Given the description of an element on the screen output the (x, y) to click on. 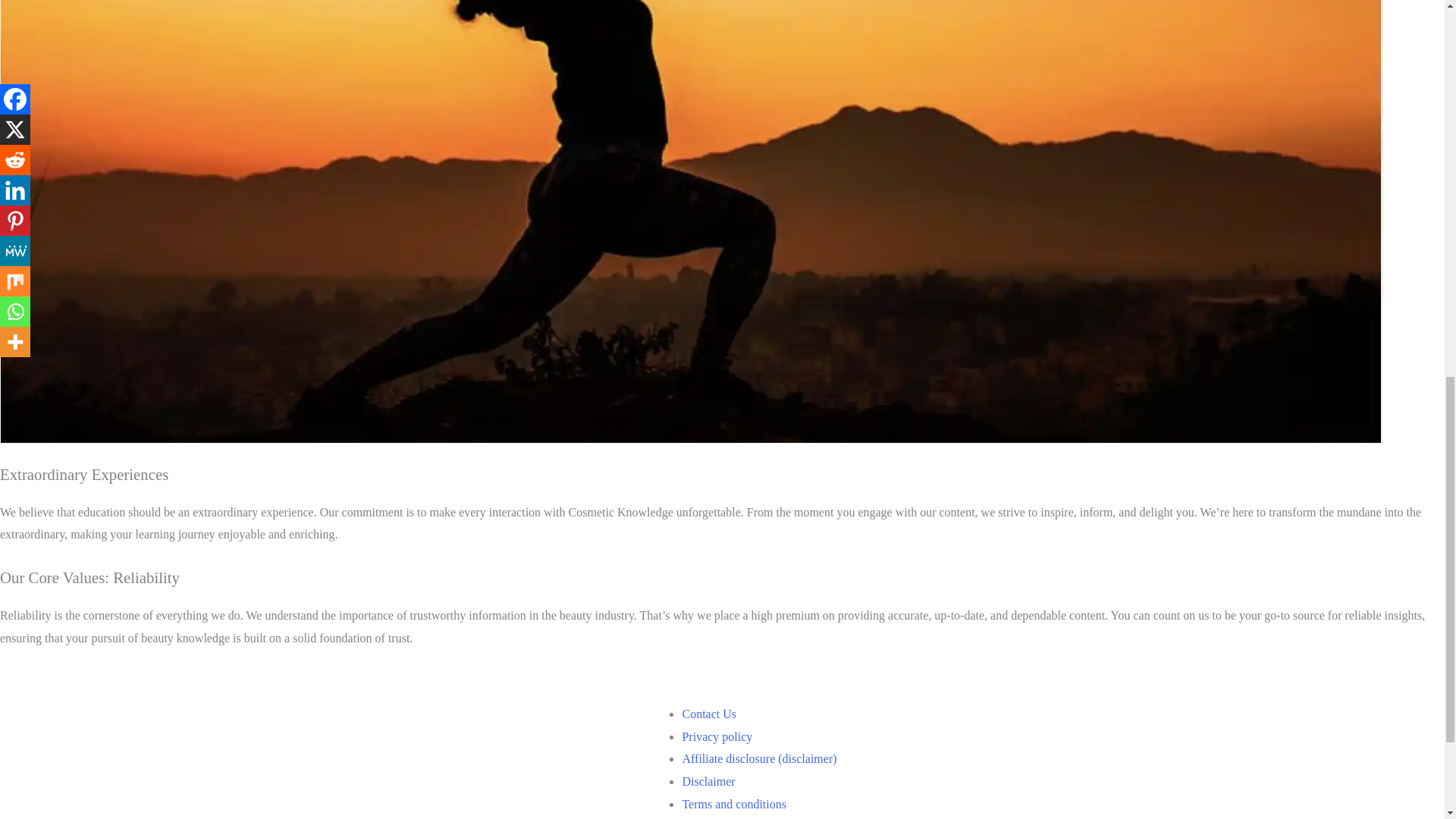
Contact Us (708, 713)
Privacy policy (716, 736)
Terms and conditions (733, 803)
Disclaimer (708, 780)
